Given the description of an element on the screen output the (x, y) to click on. 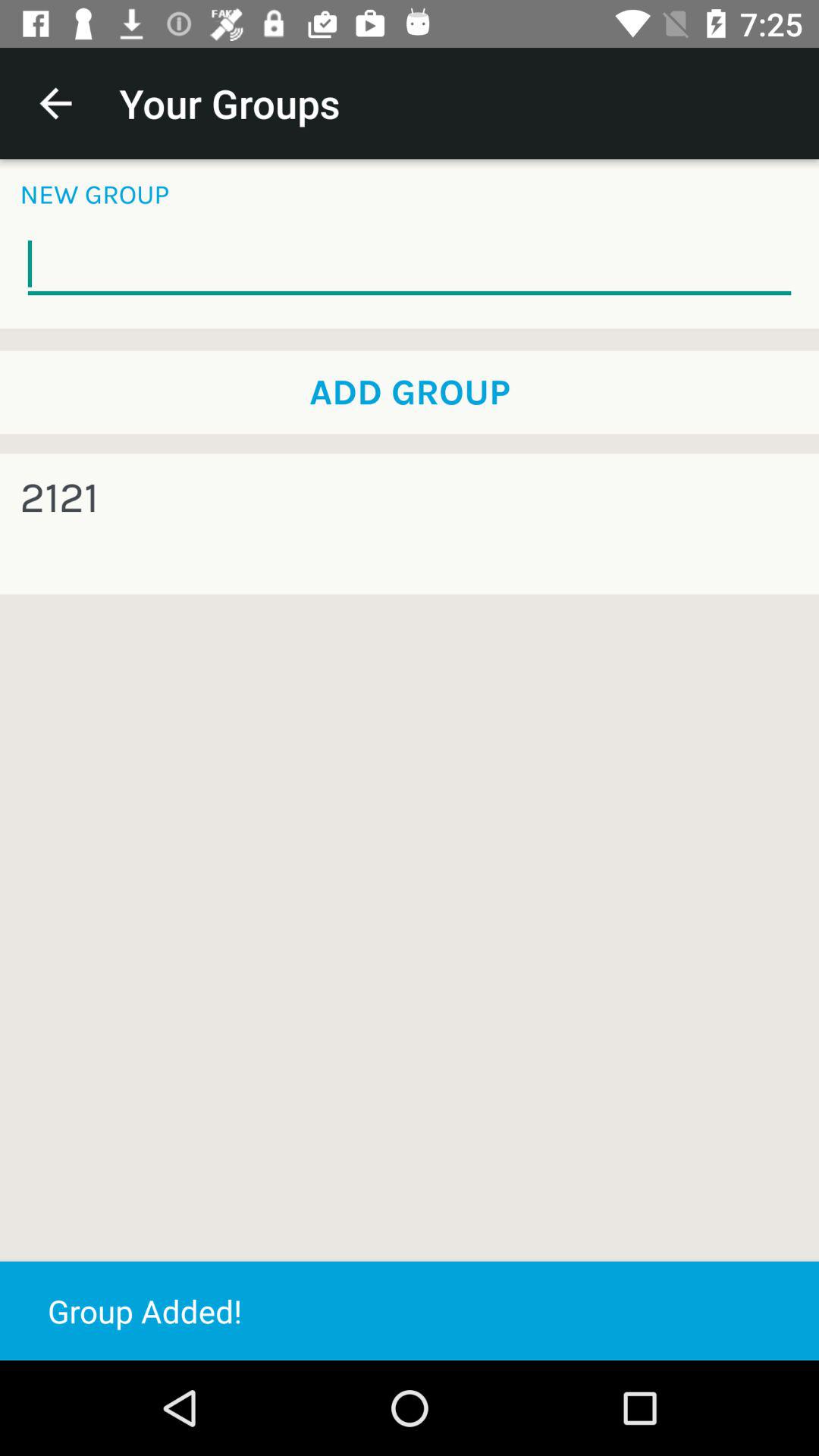
press item above the new group icon (55, 103)
